Given the description of an element on the screen output the (x, y) to click on. 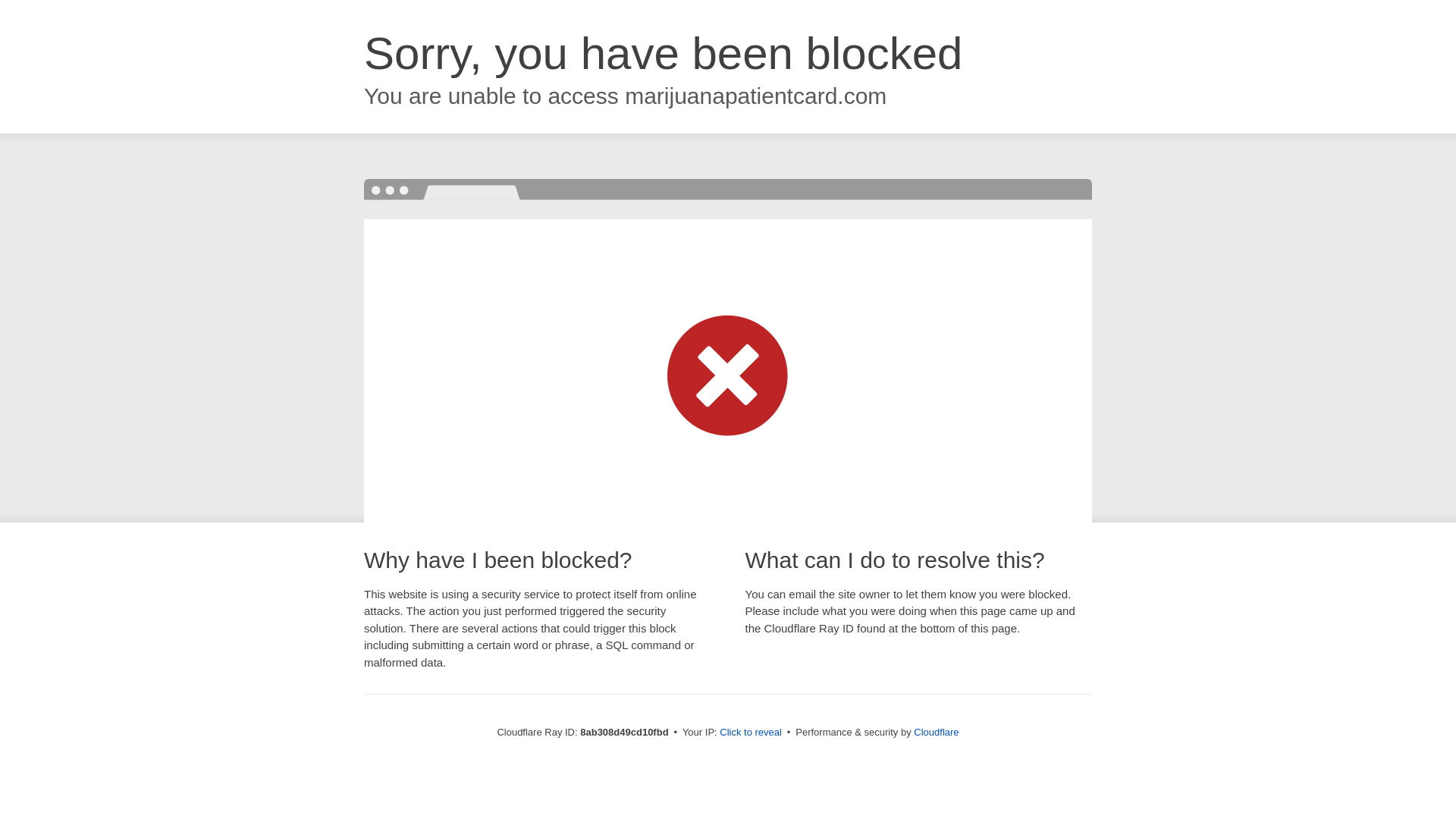
Click to reveal (750, 732)
Cloudflare (936, 731)
